Given the description of an element on the screen output the (x, y) to click on. 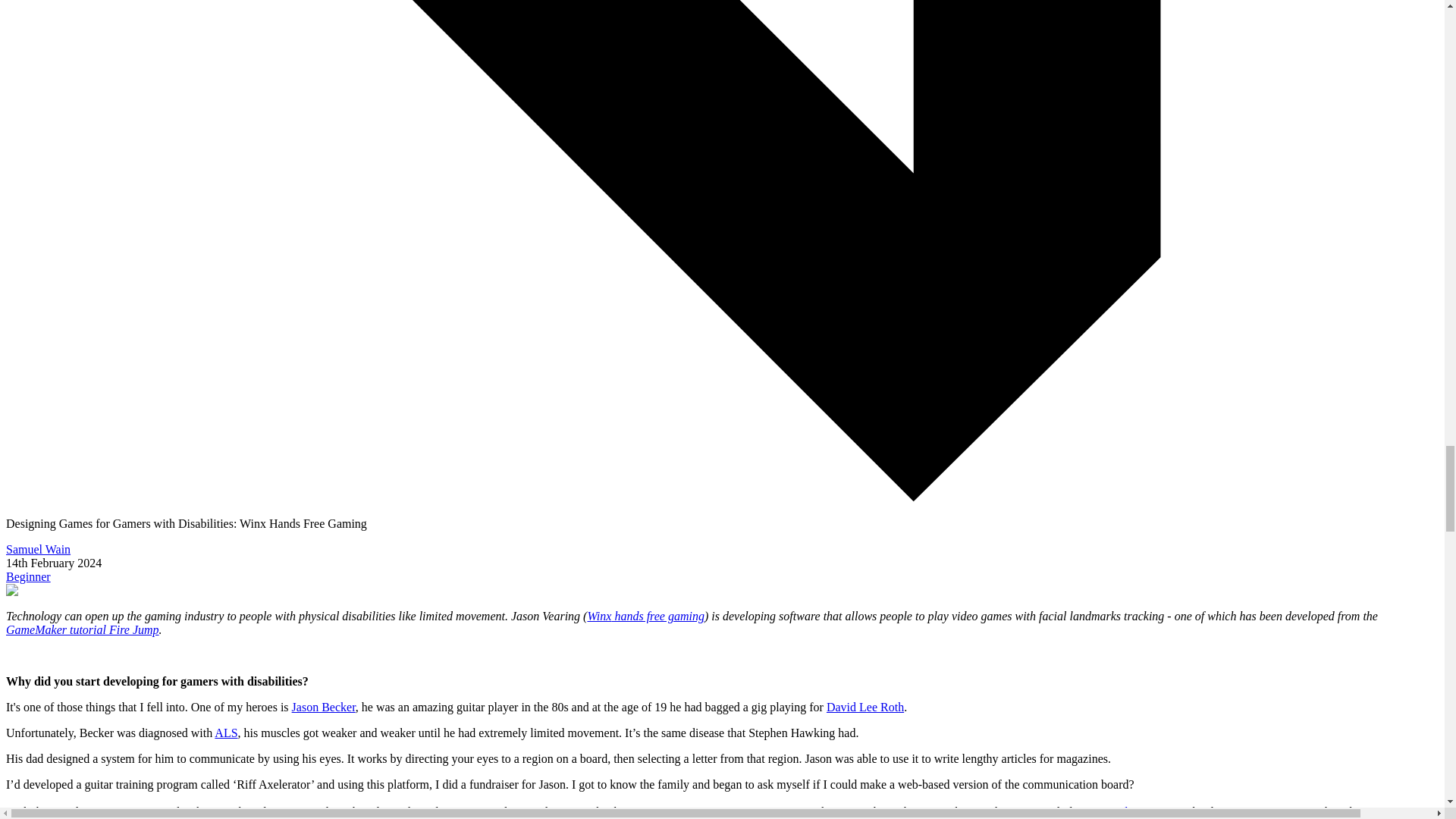
David Lee Roth (865, 707)
Jason Becker (323, 707)
Winx (598, 615)
Dr Jordan Nguyen (1135, 811)
Samuel Wain (37, 549)
GameMaker tutorial Fire Jump (81, 629)
ALS (225, 732)
Beginner (27, 576)
hands free gaming (657, 615)
